Given the description of an element on the screen output the (x, y) to click on. 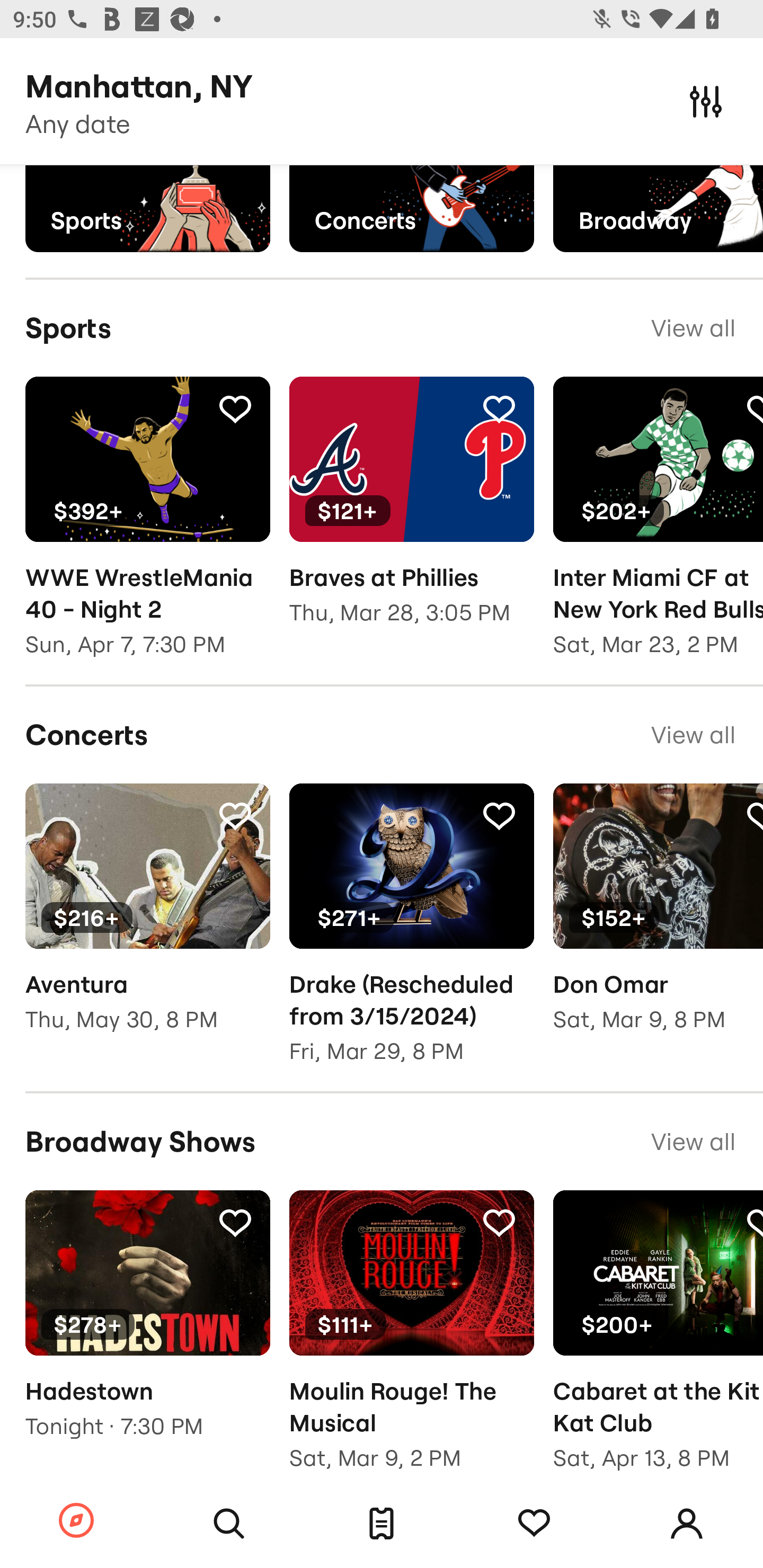
Filters (705, 100)
Sports (147, 208)
Concerts (411, 208)
Broadway (658, 208)
View all (693, 327)
Tracking (234, 408)
Tracking (498, 408)
Tracking (753, 408)
View all (693, 735)
Tracking $216+ Aventura Thu, May 30, 8 PM (147, 921)
Tracking $152+ Don Omar Sat, Mar 9, 8 PM (658, 921)
Tracking (234, 815)
Tracking (498, 815)
Tracking (753, 815)
View all (693, 1141)
Tracking $278+ Hadestown Tonight · 7:30 PM (147, 1327)
Tracking (234, 1221)
Tracking (498, 1221)
Tracking (753, 1221)
Browse (76, 1521)
Search (228, 1523)
Tickets (381, 1523)
Tracking (533, 1523)
Account (686, 1523)
